Given the description of an element on the screen output the (x, y) to click on. 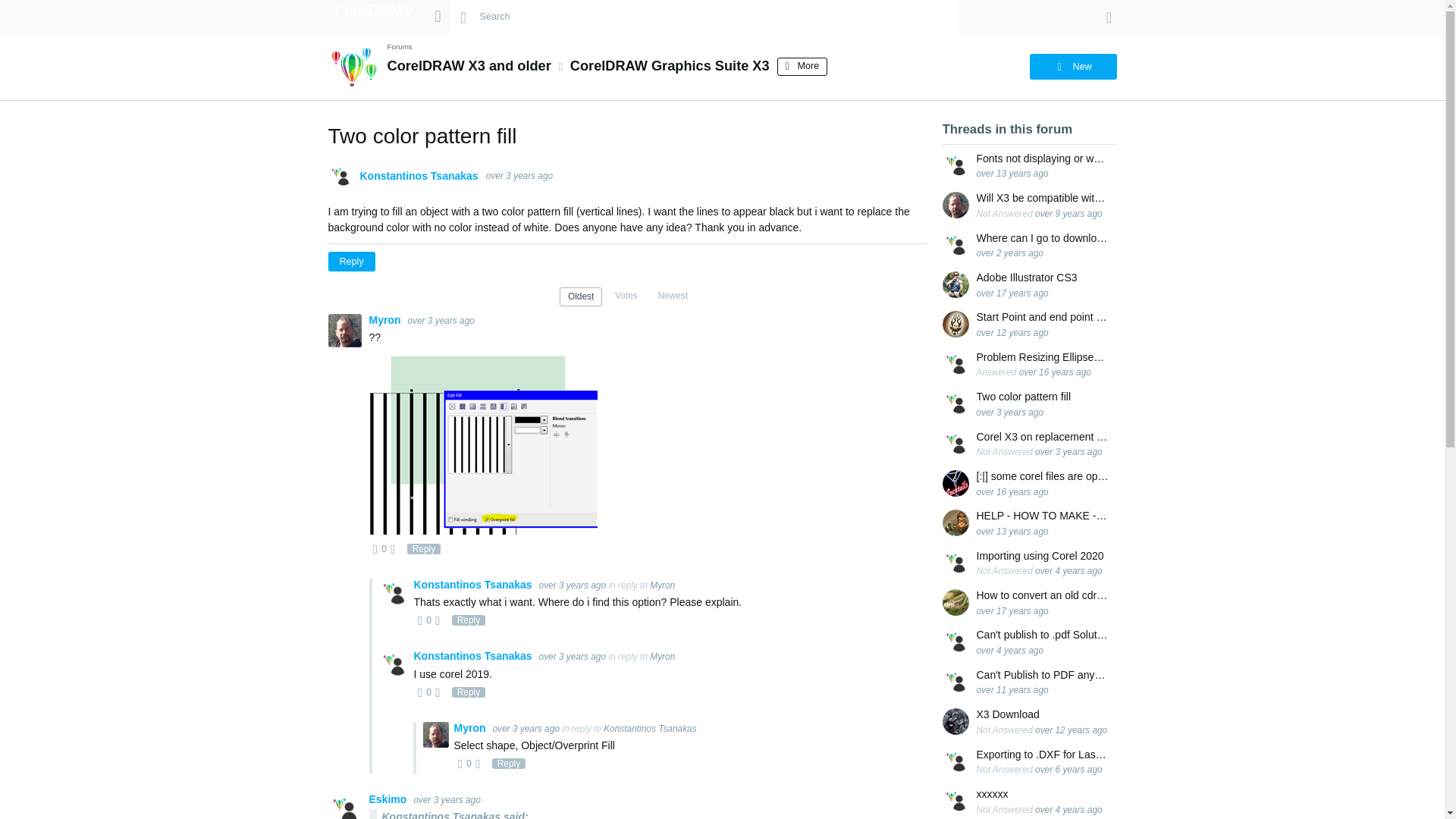
over 17 years ago (1012, 293)
Problem Resizing Ellipses in a Group (1042, 357)
Fonts not displaying or working in X3 on Windows 7 (1042, 158)
over 4 years ago (1068, 570)
over 12 years ago (1012, 332)
New (1072, 66)
over 16 years ago (1012, 491)
over 2 years ago (1009, 253)
over 3 years ago (1009, 412)
Site (437, 15)
